Given the description of an element on the screen output the (x, y) to click on. 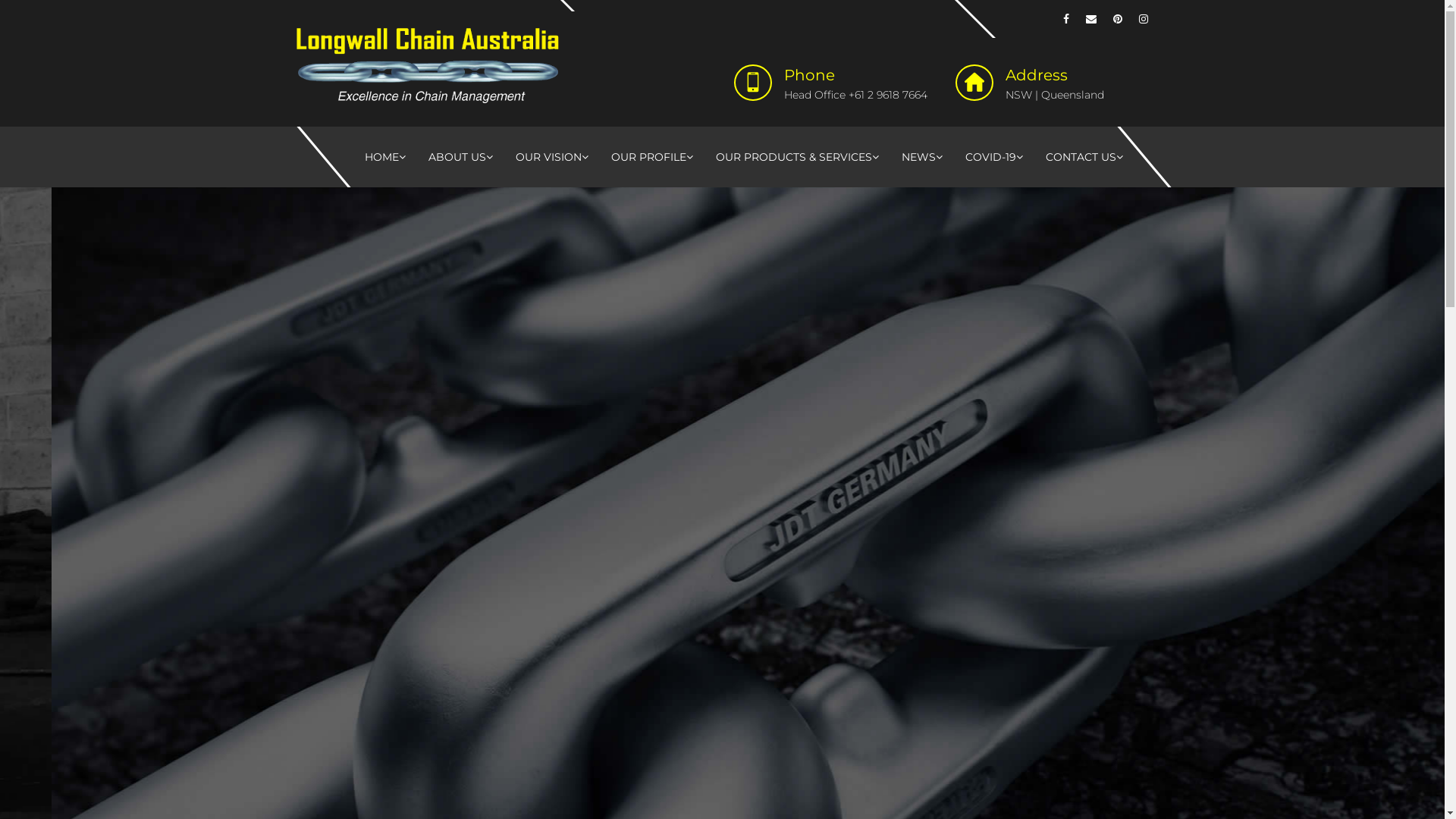
NSW | Queensland Element type: text (1054, 94)
OUR VISION Element type: text (551, 156)
NEWS Element type: text (921, 156)
OUR PRODUCTS & SERVICES Element type: text (797, 156)
HOME Element type: text (385, 156)
ABOUT US Element type: text (460, 156)
COVID-19 Element type: text (993, 156)
OUR PROFILE Element type: text (651, 156)
CONTACT US Element type: text (1084, 156)
